Given the description of an element on the screen output the (x, y) to click on. 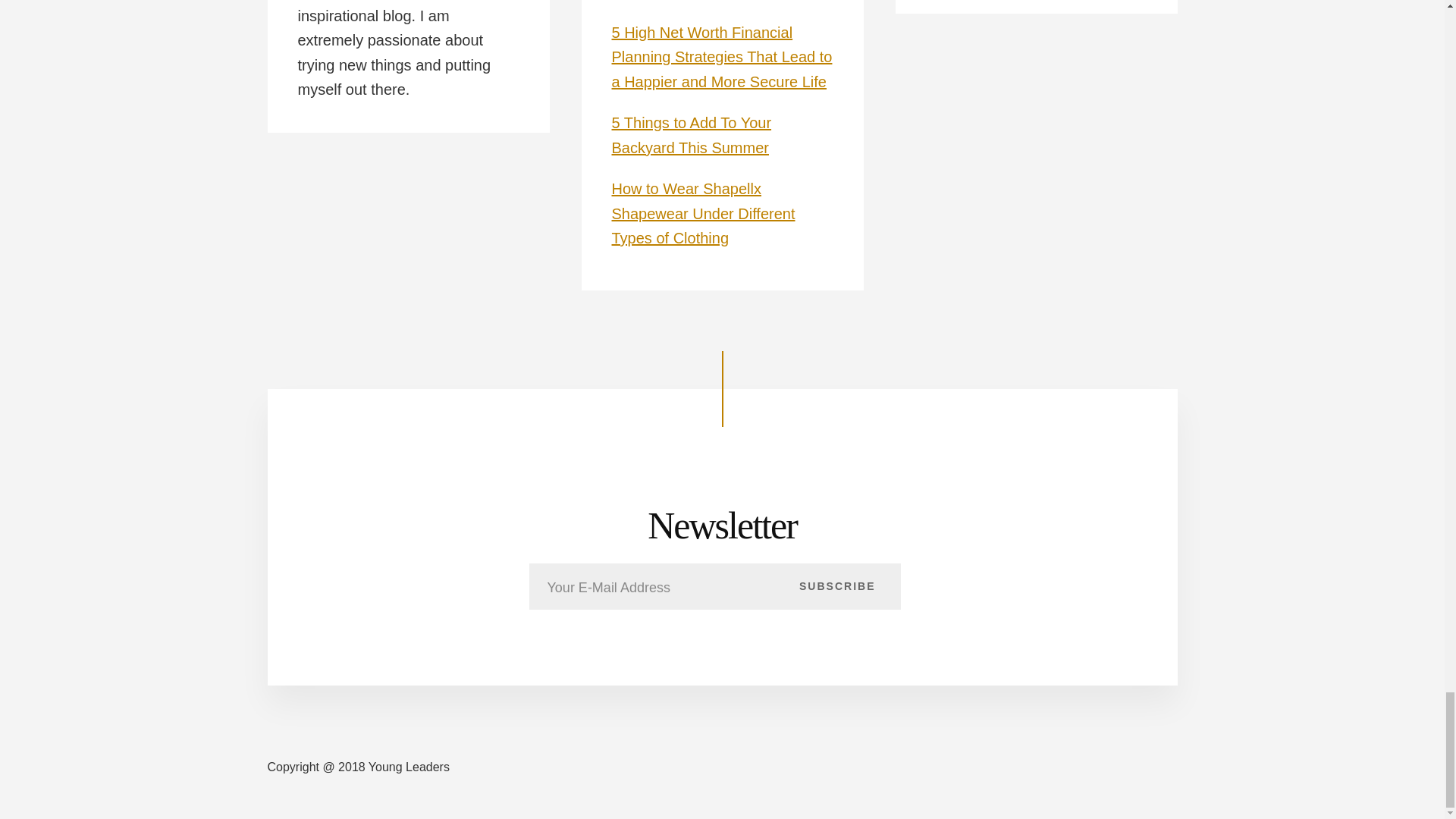
5 Things to Add To Your Backyard This Summer (691, 135)
SUBSCRIBE (837, 585)
SUBSCRIBE (837, 585)
